Given the description of an element on the screen output the (x, y) to click on. 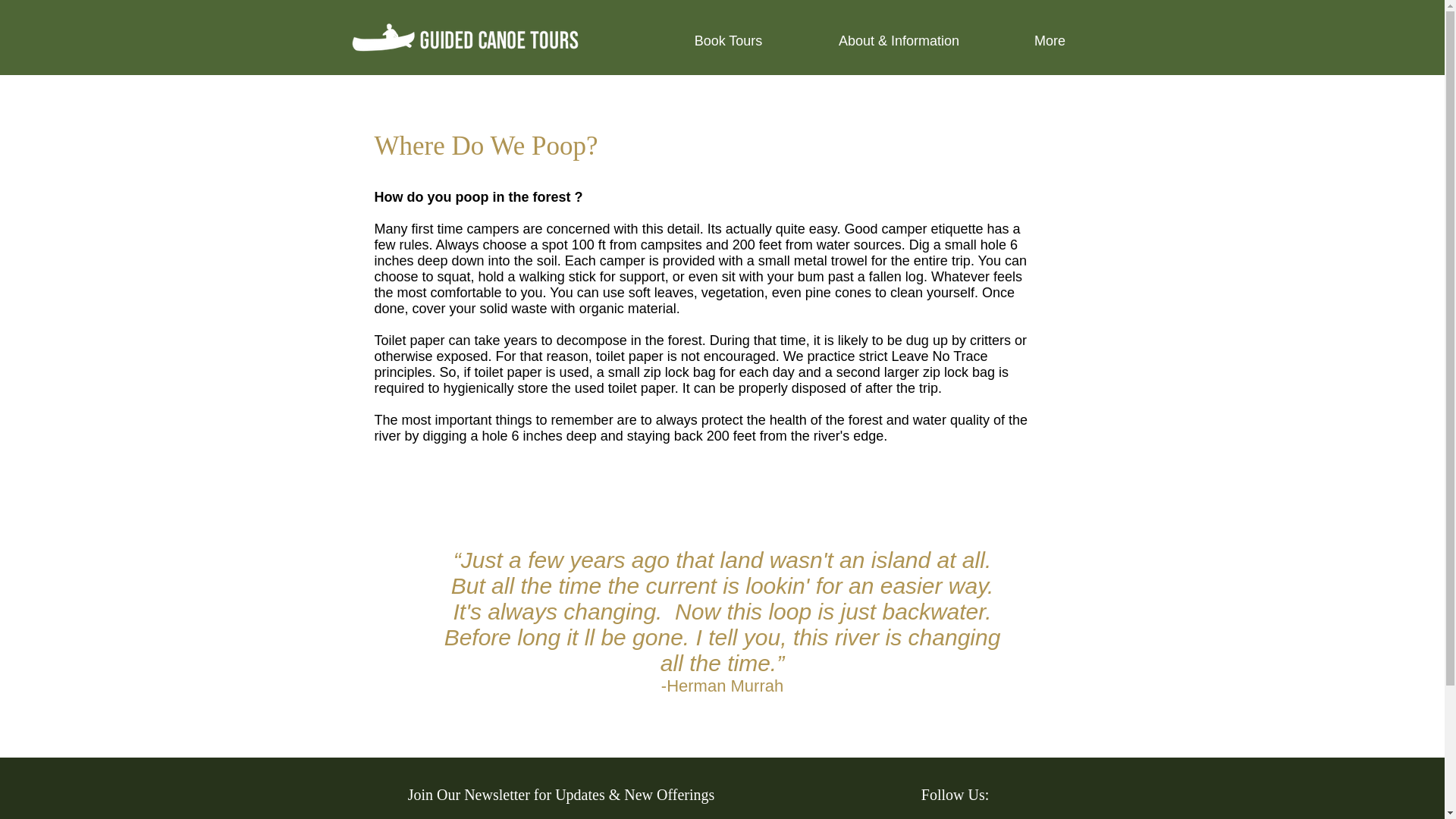
Book Tours (728, 40)
